Given the description of an element on the screen output the (x, y) to click on. 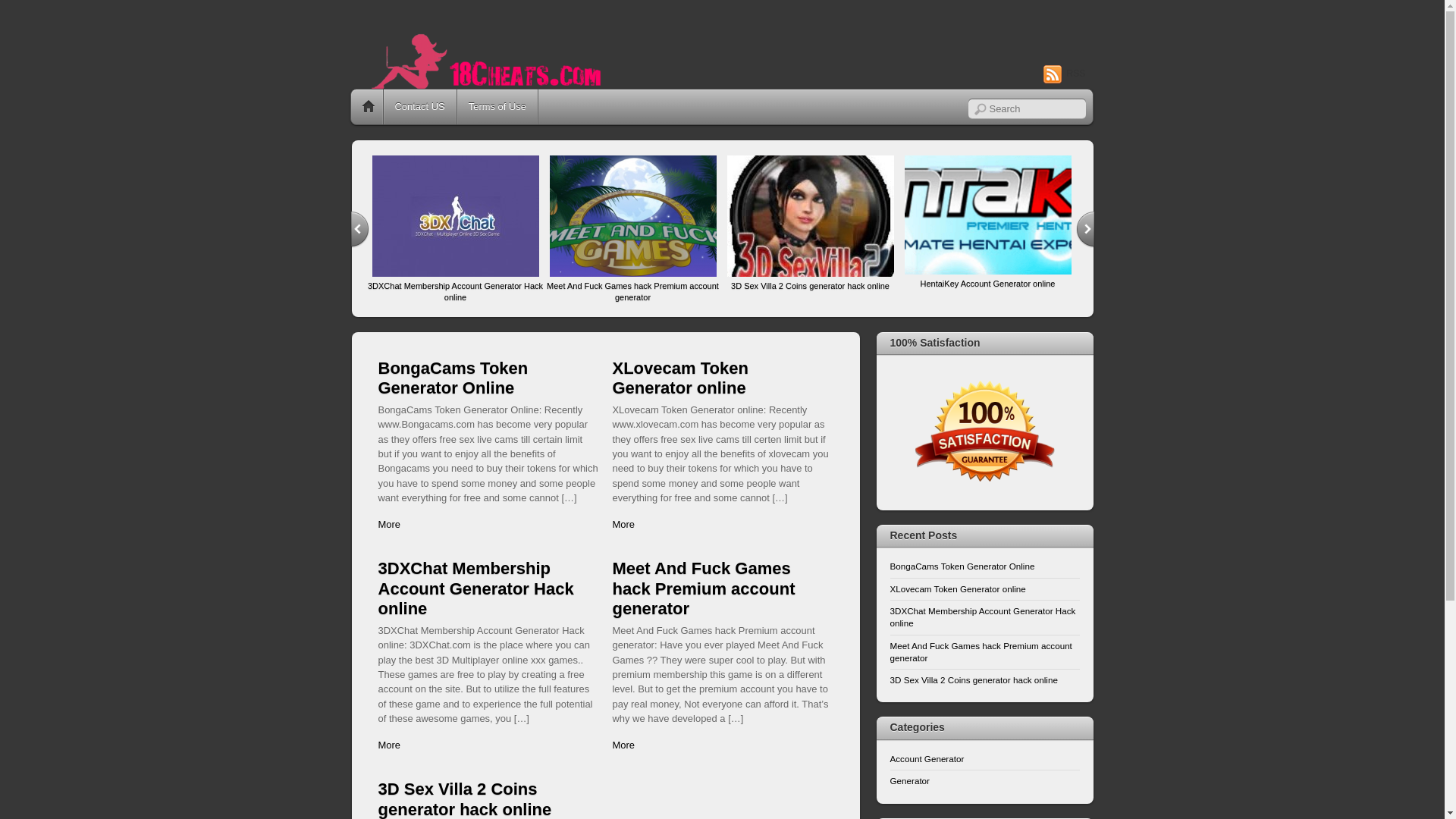
Contact US Element type: text (419, 106)
More Element type: text (622, 524)
3D Sex Villa 2 Coins generator hack online Element type: text (973, 679)
More Element type: text (388, 744)
Meet And Fuck Games hack Premium account generator Element type: hover (632, 273)
3DXChat Membership Account Generator Hack online Element type: text (454, 291)
Home Element type: text (367, 106)
18cheats.com Element type: hover (484, 61)
HentaiKey Account Generator online Element type: text (987, 283)
HentaiKey Account Generator online Element type: hover (986, 270)
3DXChat Membership Account Generator Hack online Element type: text (983, 616)
3DXChat Membership Account Generator Hack online Element type: hover (454, 273)
More Element type: text (388, 524)
18cheats.com Element type: hover (484, 94)
XLovecam Token Generator online Element type: text (679, 377)
3DXChat Membership Account Generator Hack online Element type: text (475, 588)
BongaCams Token Generator Online Element type: text (452, 377)
Terms of Use Element type: text (497, 106)
Meet And Fuck Games hack Premium account generator Element type: text (702, 588)
3D Sex Villa 2 Coins generator hack online Element type: text (464, 798)
More Element type: text (622, 744)
Account Generator Element type: text (927, 758)
3D Sex Villa 2 Coins generator hack online Element type: hover (809, 273)
XLovecam Token Generator online Element type: text (958, 588)
BongaCams Token Generator Online Element type: text (962, 566)
Generator Element type: text (909, 780)
Meet And Fuck Games hack Premium account generator Element type: text (632, 291)
Meet And Fuck Games hack Premium account generator Element type: text (981, 651)
RSS Element type: text (1064, 73)
3D Sex Villa 2 Coins generator hack online Element type: text (810, 285)
